Given the description of an element on the screen output the (x, y) to click on. 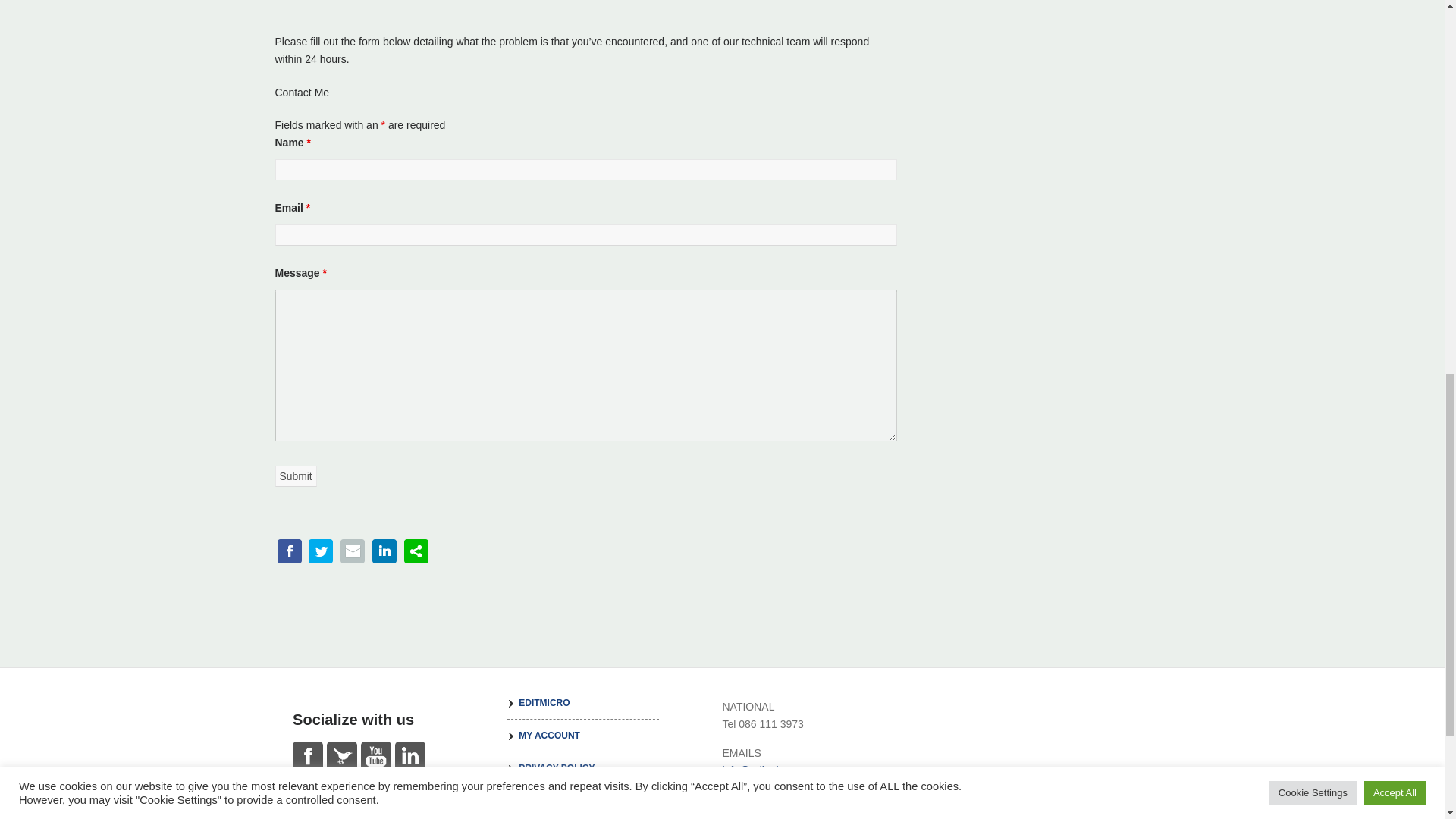
Submit (295, 476)
LinkedIn (409, 757)
Youtube (376, 757)
Twitter (341, 757)
Facebook (307, 757)
